Given the description of an element on the screen output the (x, y) to click on. 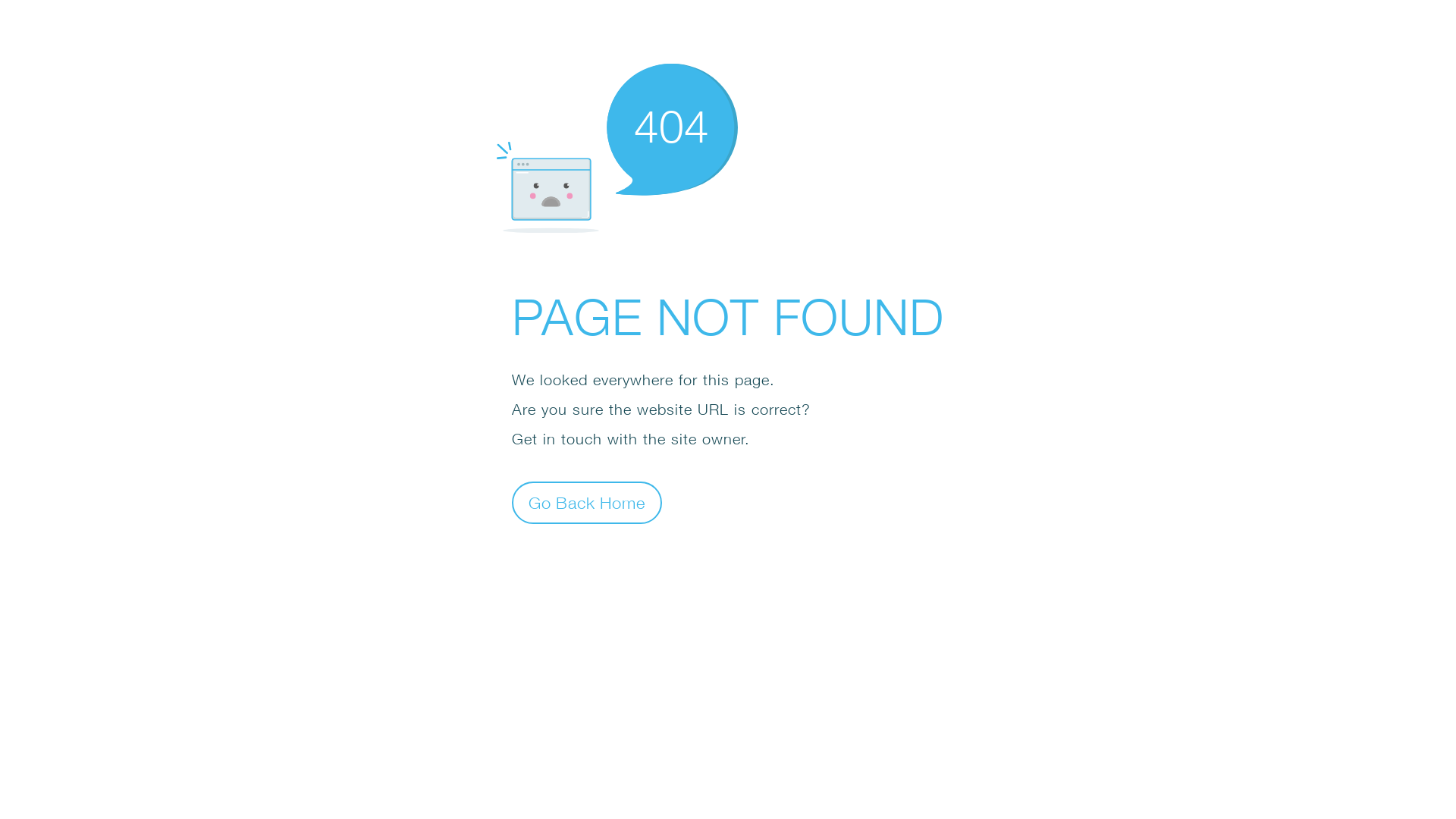
Go Back Home Element type: text (586, 502)
